Given the description of an element on the screen output the (x, y) to click on. 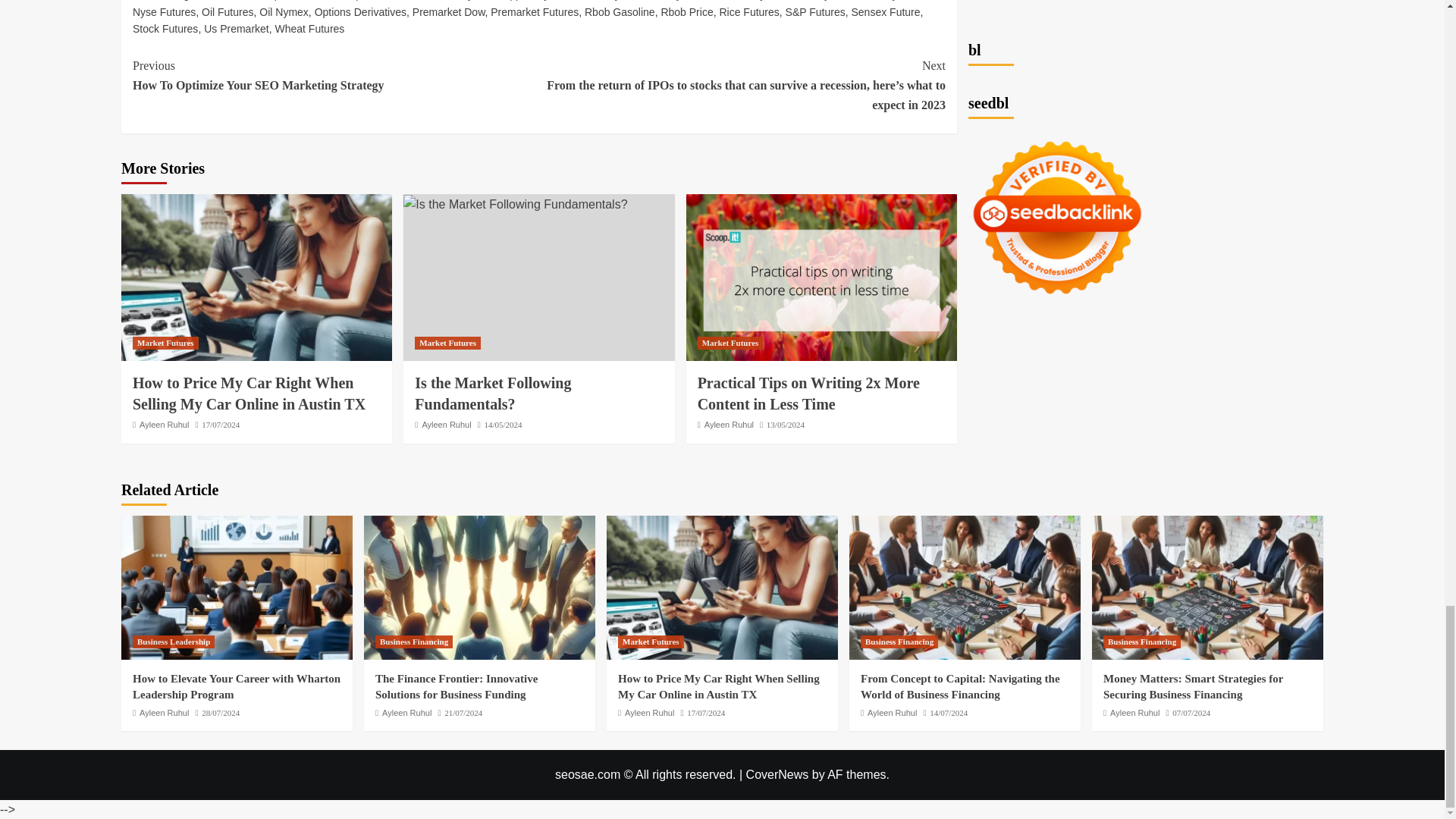
Is the Market Following Fundamentals? (515, 204)
How to Elevate Your Career with Wharton Leadership Program (236, 587)
Practical Tips on Writing 2x More Content in Less Time (820, 277)
